Given the description of an element on the screen output the (x, y) to click on. 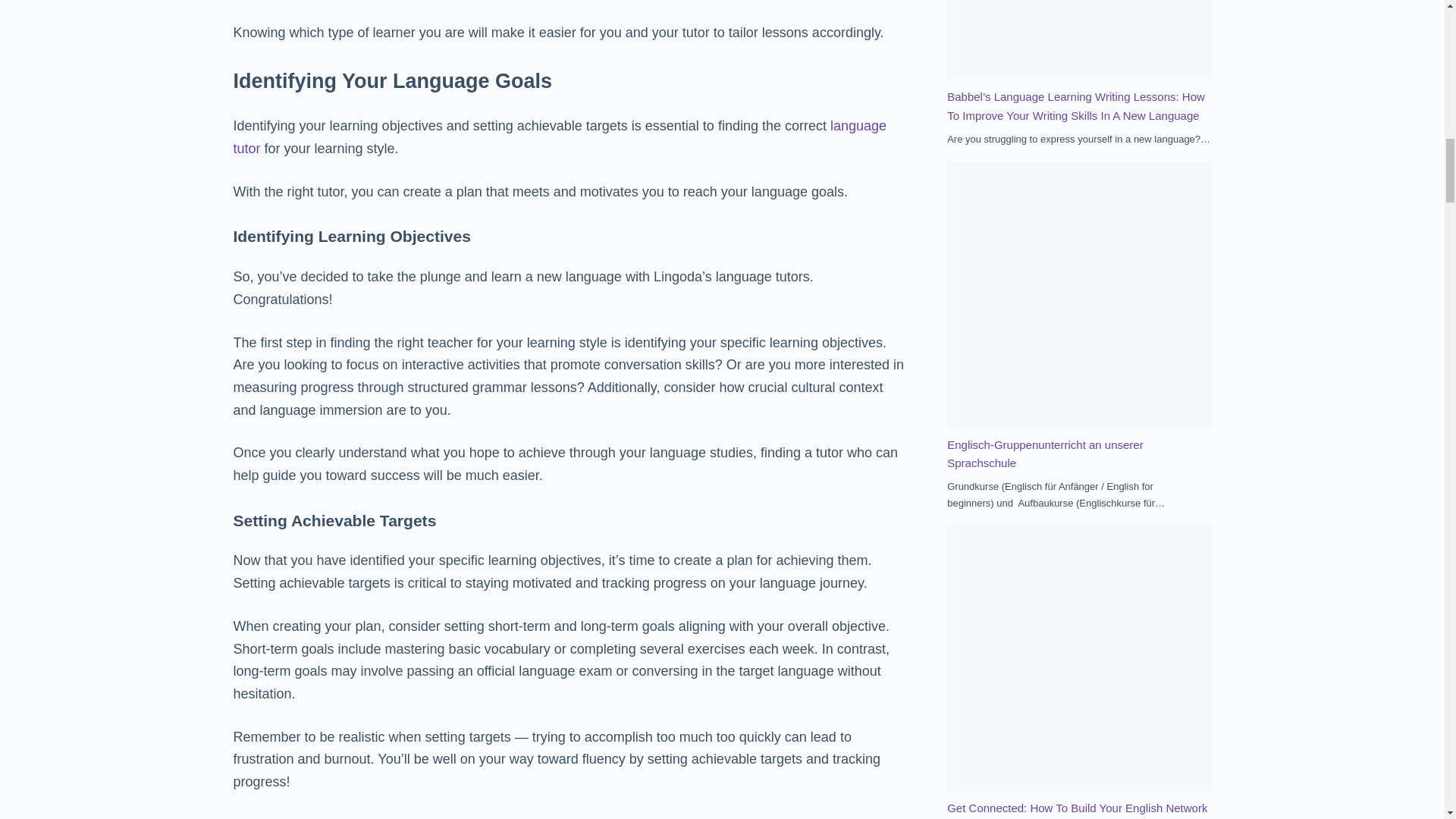
Englisch-Gruppenunterricht an unserer Sprachschule (1044, 454)
language tutor (559, 136)
